Given the description of an element on the screen output the (x, y) to click on. 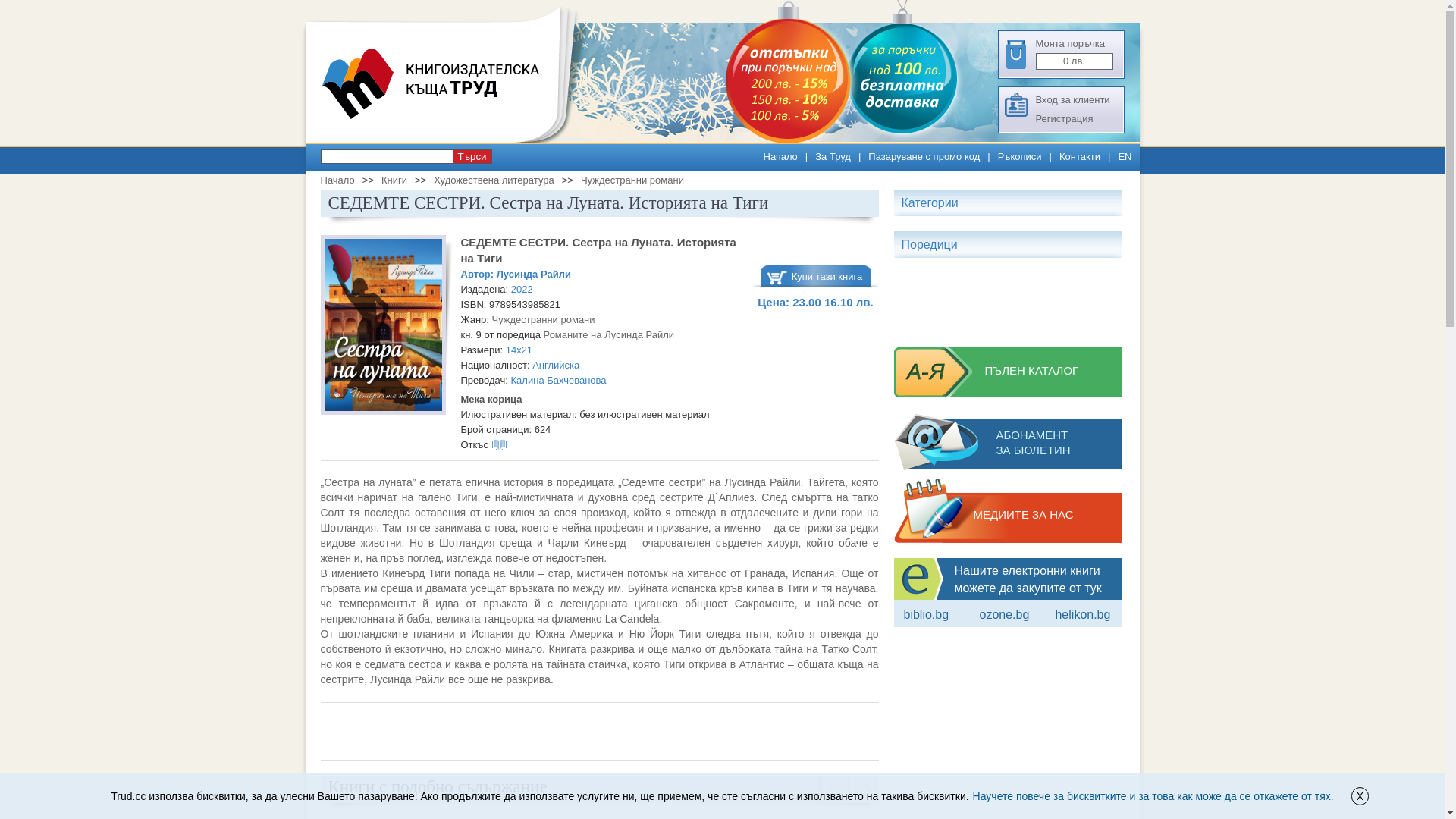
ozone.bg Element type: text (1004, 614)
biblio.bg Element type: text (926, 614)
next Element type: hover (863, 788)
Trud Element type: hover (444, 138)
previous Element type: hover (833, 788)
X Element type: text (1359, 796)
helikon.bg Element type: text (1082, 614)
EN Element type: text (1124, 156)
